Given the description of an element on the screen output the (x, y) to click on. 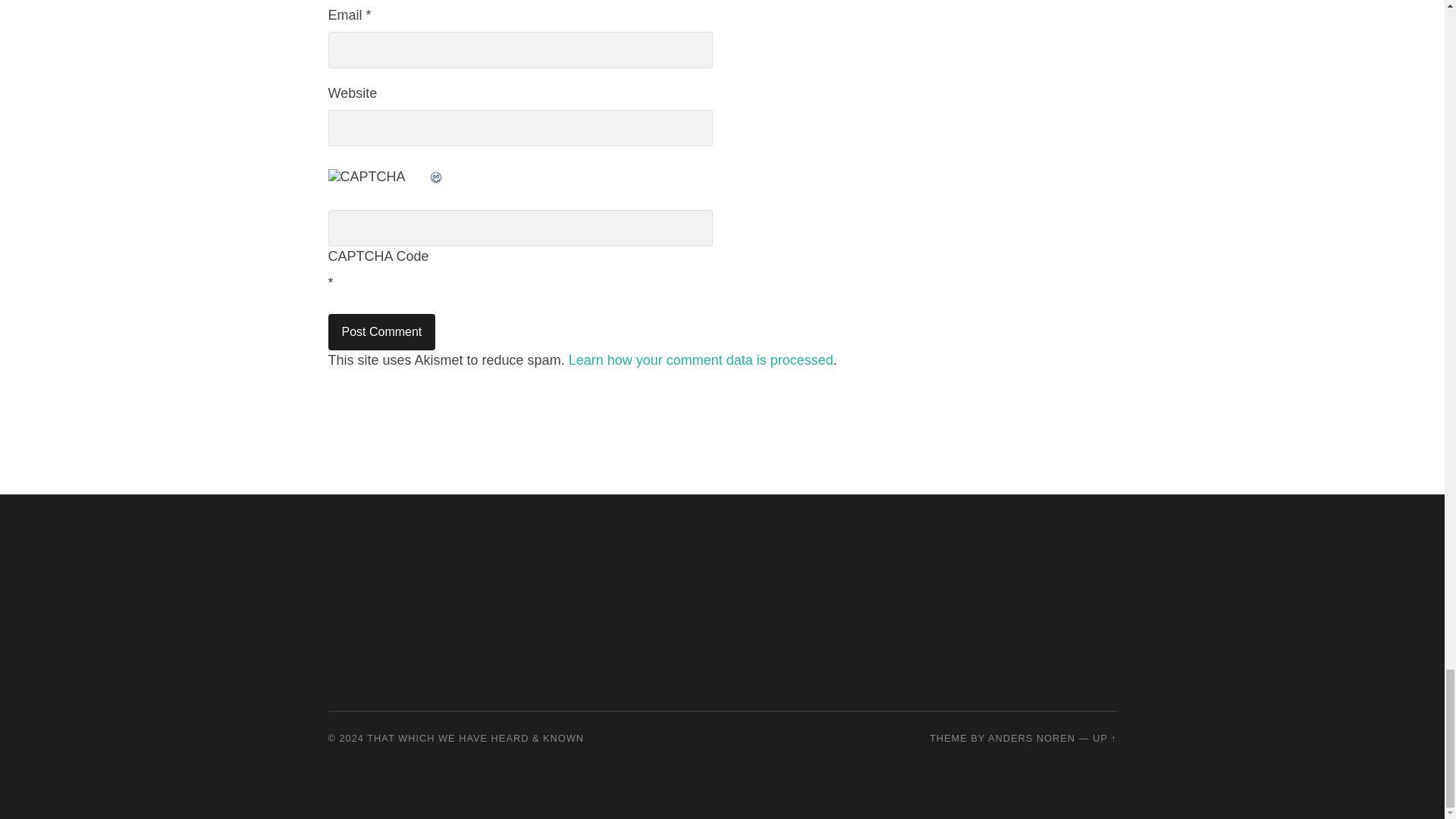
CAPTCHA (377, 184)
Refresh (436, 176)
Post Comment (381, 331)
To the top (1104, 737)
Learn how your comment data is processed (700, 359)
Post Comment (381, 331)
